Given the description of an element on the screen output the (x, y) to click on. 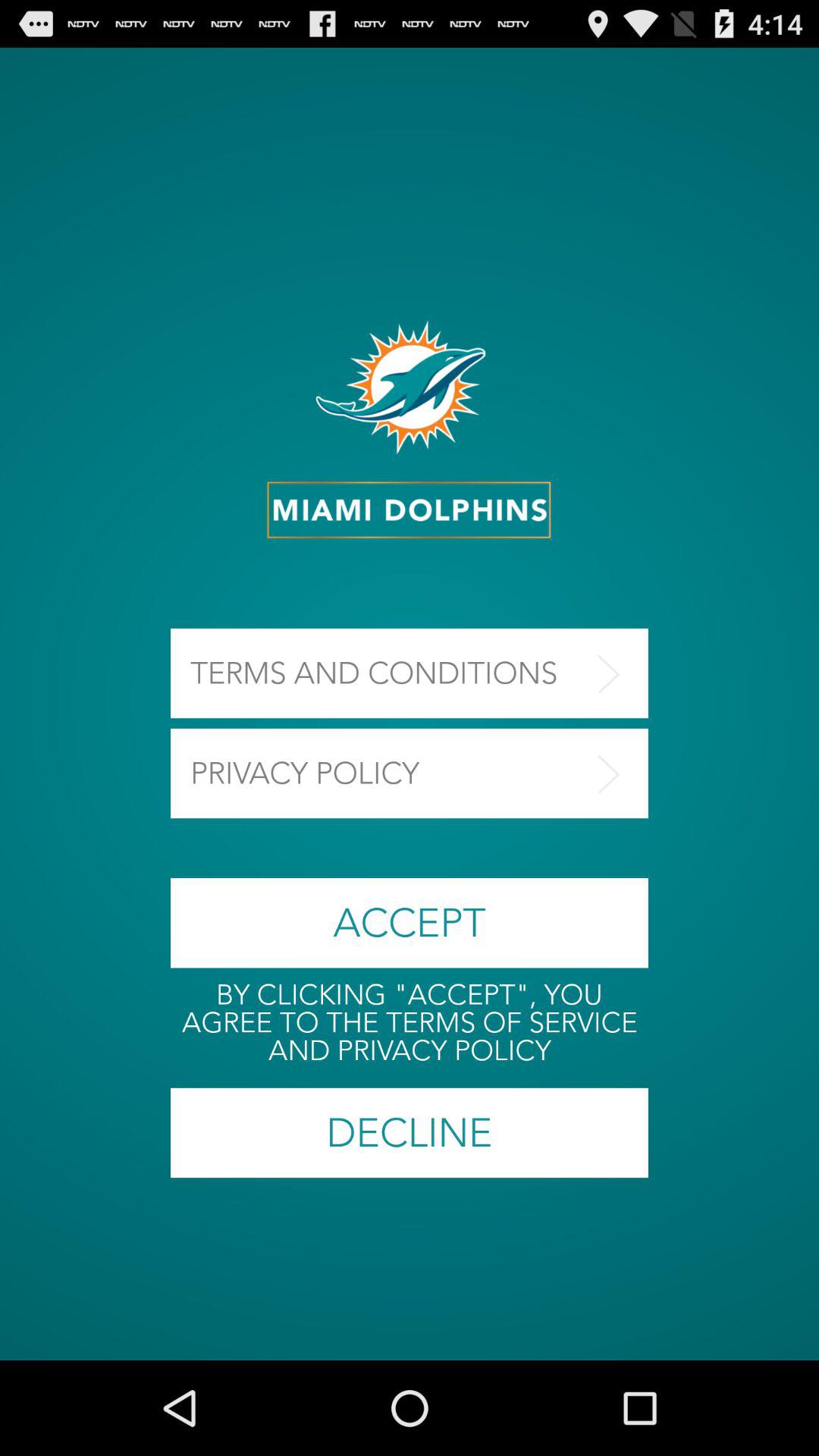
flip to the decline button (409, 1132)
